Given the description of an element on the screen output the (x, y) to click on. 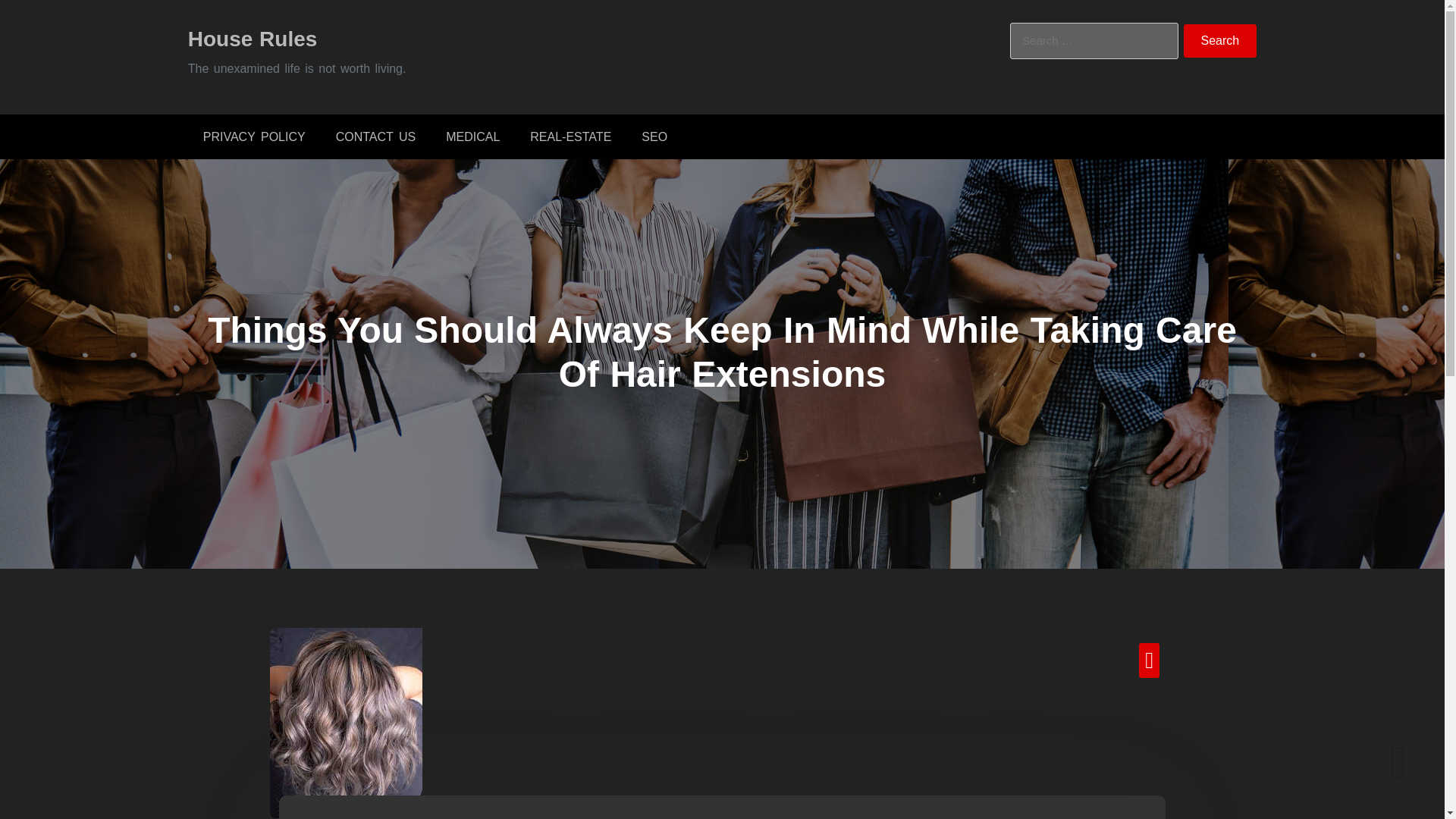
REAL-ESTATE (570, 136)
CONTACT US (375, 136)
Search (1220, 40)
Search (1220, 40)
SEO (654, 136)
House Rules (252, 38)
PRIVACY POLICY (253, 136)
MEDICAL (472, 136)
Search (1220, 40)
